Given the description of an element on the screen output the (x, y) to click on. 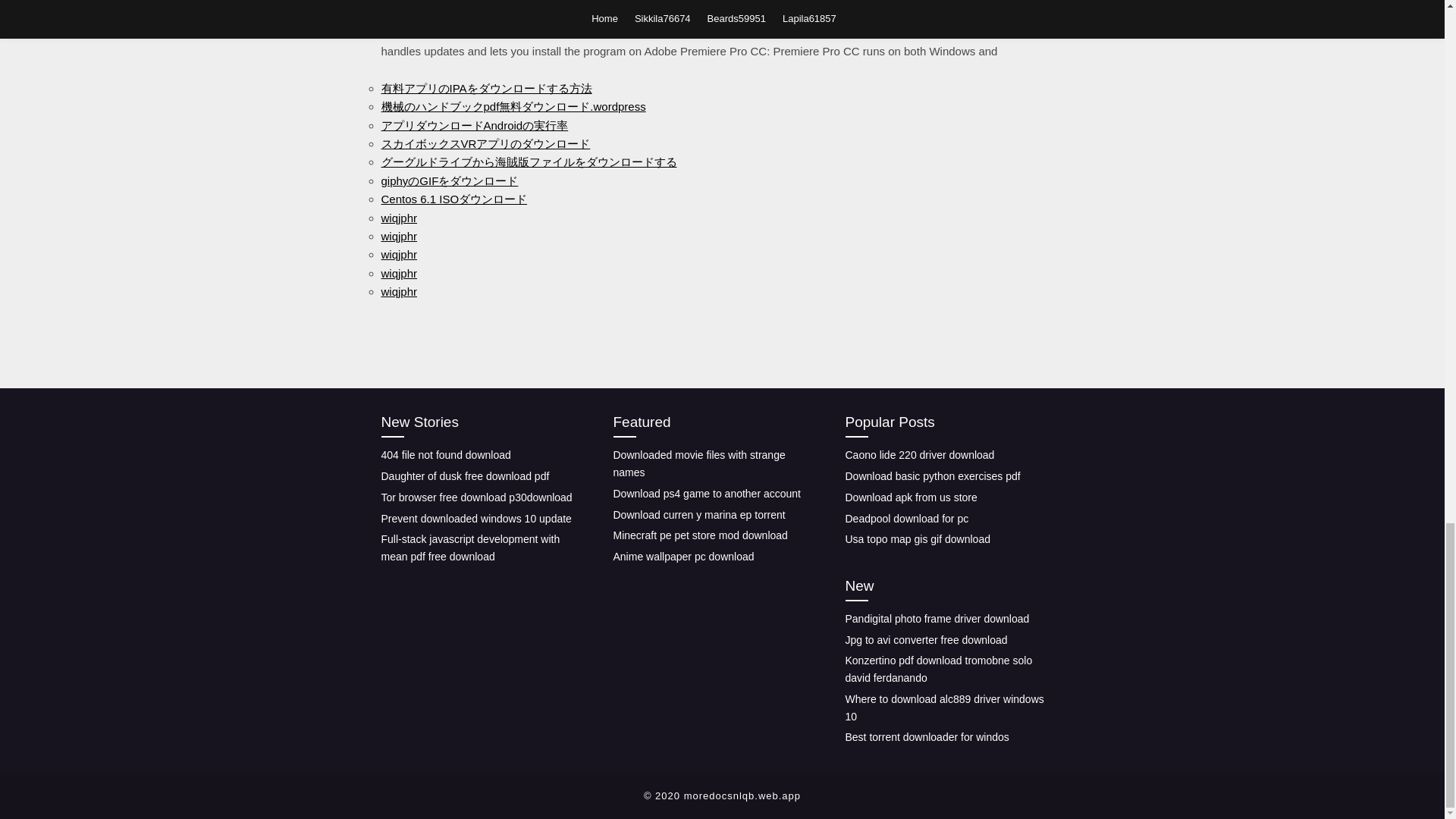
wiqjphr (398, 291)
Tor browser free download p30download (476, 497)
Download ps4 game to another account (706, 493)
wiqjphr (398, 273)
404 file not found download (445, 454)
Download apk from us store (910, 497)
Download curren y marina ep torrent (698, 513)
Pandigital photo frame driver download (936, 618)
Anime wallpaper pc download (683, 556)
Daughter of dusk free download pdf (464, 476)
wiqjphr (398, 254)
wiqjphr (398, 216)
Download basic python exercises pdf (932, 476)
Downloaded movie files with strange names (698, 463)
